Given the description of an element on the screen output the (x, y) to click on. 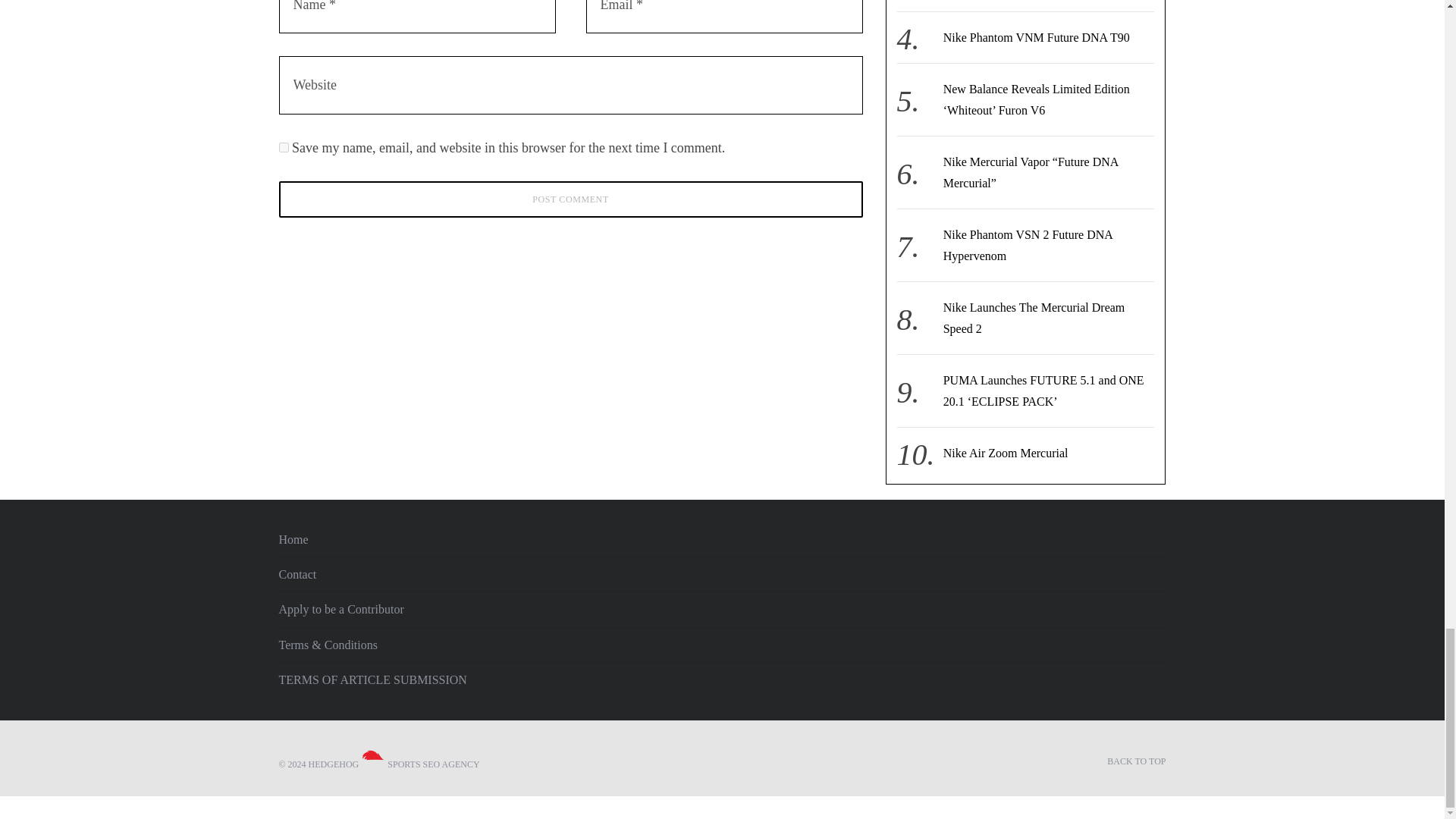
yes (283, 147)
Post Comment (571, 198)
